Given the description of an element on the screen output the (x, y) to click on. 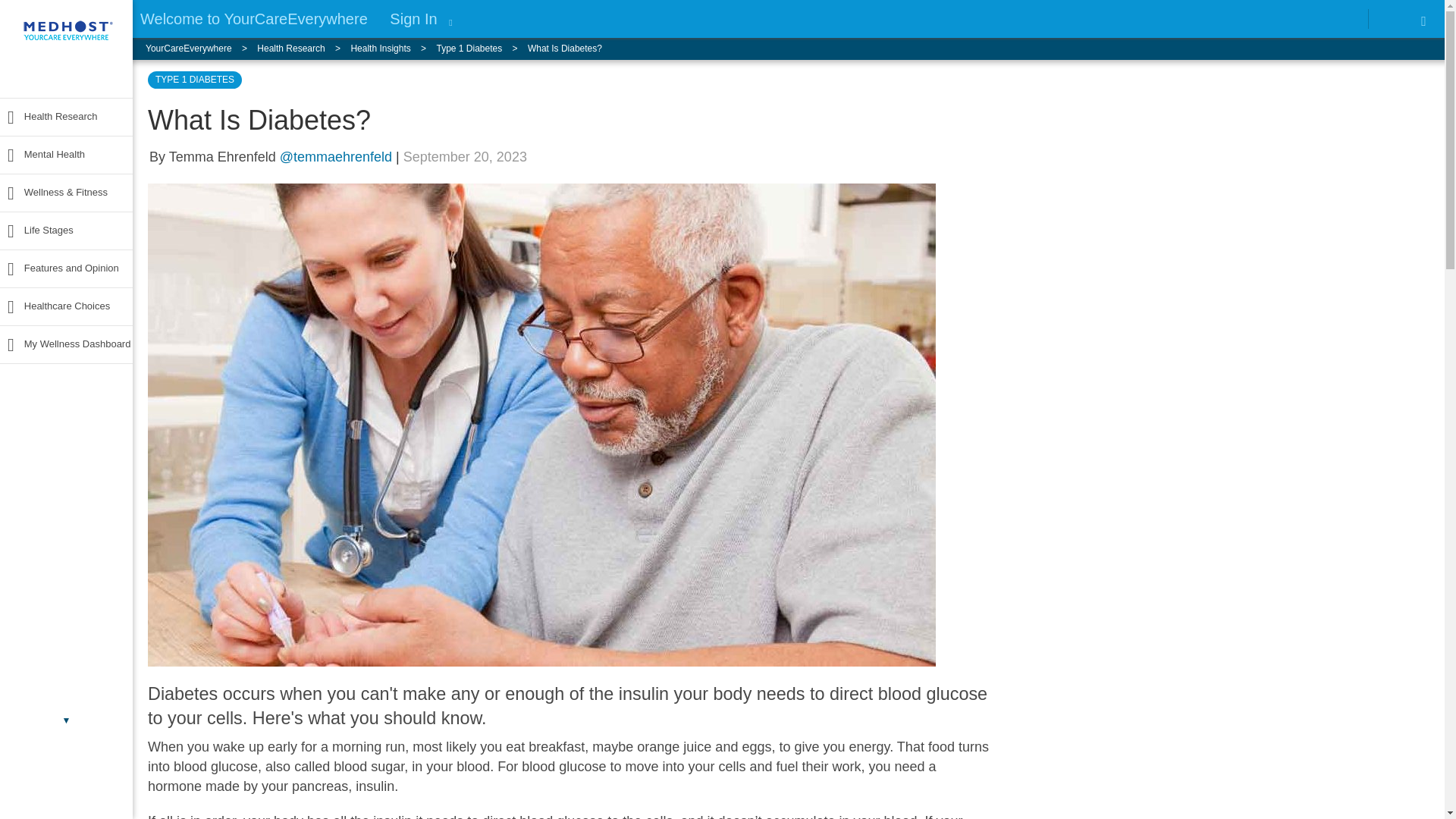
Health Insights (392, 48)
Sign In (413, 18)
Type 1 Diabetes (481, 48)
Health Research (48, 116)
Health Research (303, 48)
YourCareEverywhere (201, 48)
